Given the description of an element on the screen output the (x, y) to click on. 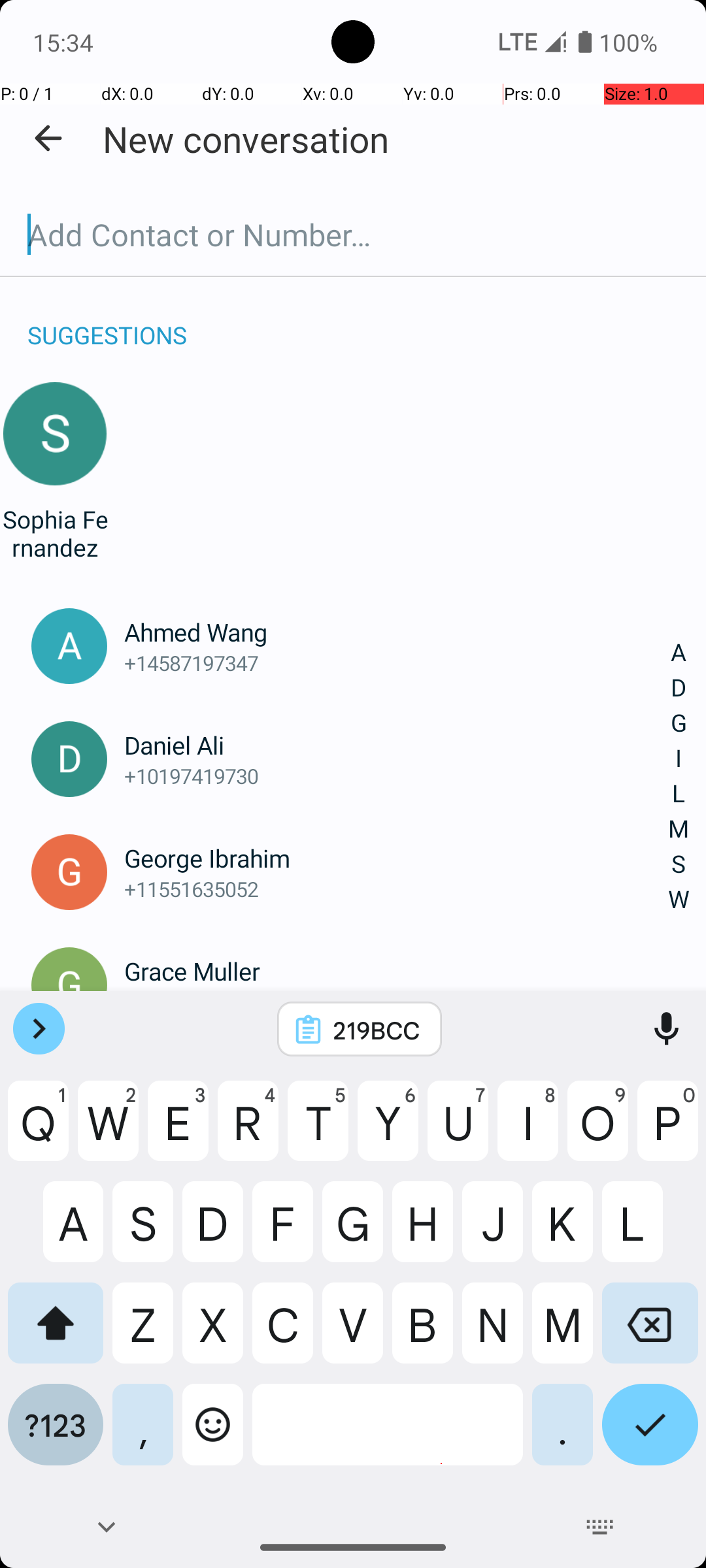
SUGGESTIONS Element type: android.widget.TextView (106, 321)
A
D
G
I
L
M
S
W Element type: android.widget.TextView (678, 776)
Sophia Fernandez Element type: android.widget.TextView (54, 532)
Ahmed Wang Element type: android.widget.TextView (397, 631)
+14587197347 Element type: android.widget.TextView (397, 662)
Daniel Ali Element type: android.widget.TextView (397, 744)
+10197419730 Element type: android.widget.TextView (397, 775)
George Ibrahim Element type: android.widget.TextView (397, 857)
+11551635052 Element type: android.widget.TextView (397, 888)
Grace Muller Element type: android.widget.TextView (397, 970)
+12804137376 Element type: android.widget.TextView (397, 1001)
219BCC Element type: android.widget.TextView (376, 1029)
